Given the description of an element on the screen output the (x, y) to click on. 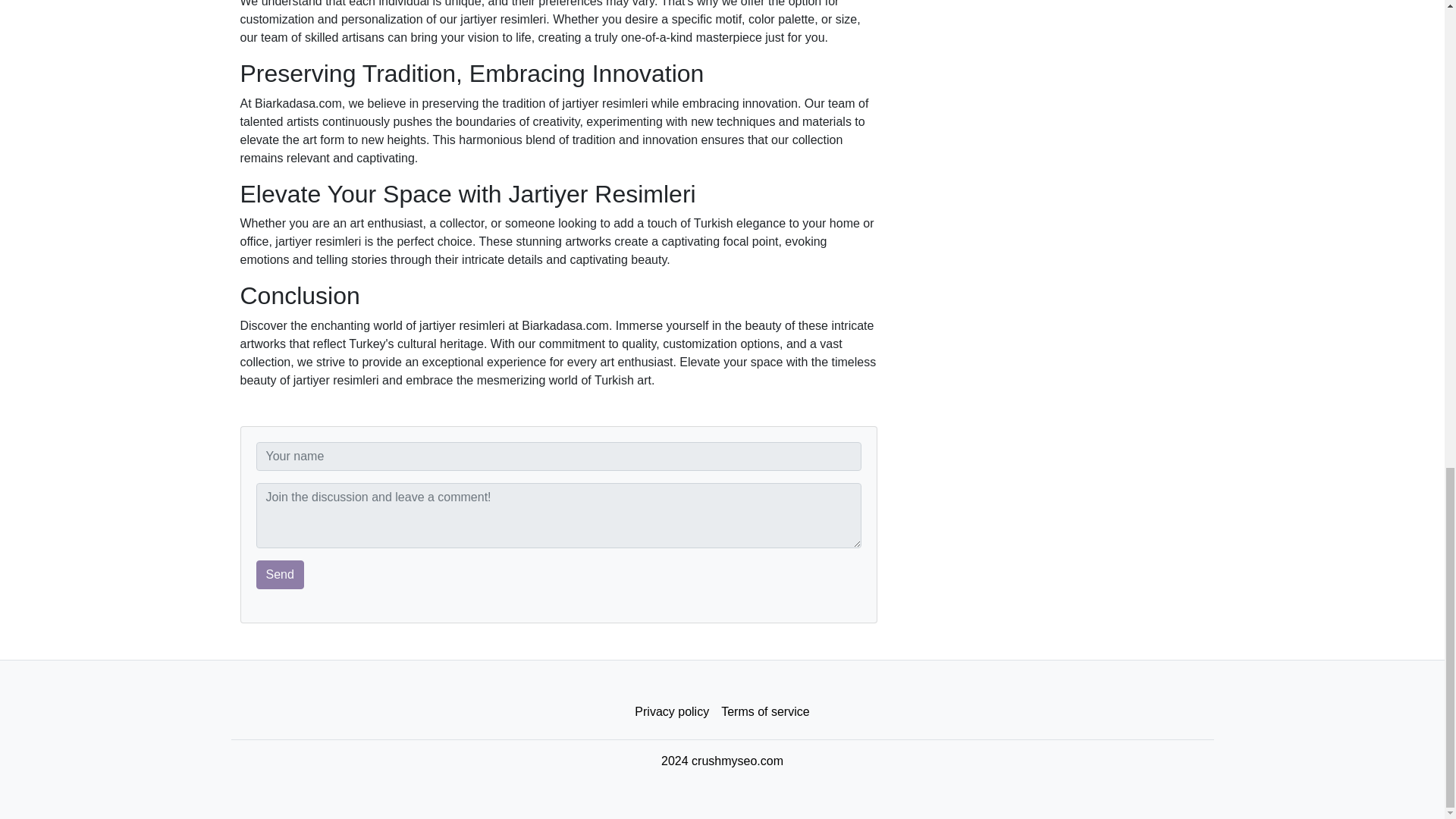
Send (280, 574)
Privacy policy (671, 711)
Send (280, 574)
Terms of service (764, 711)
